Given the description of an element on the screen output the (x, y) to click on. 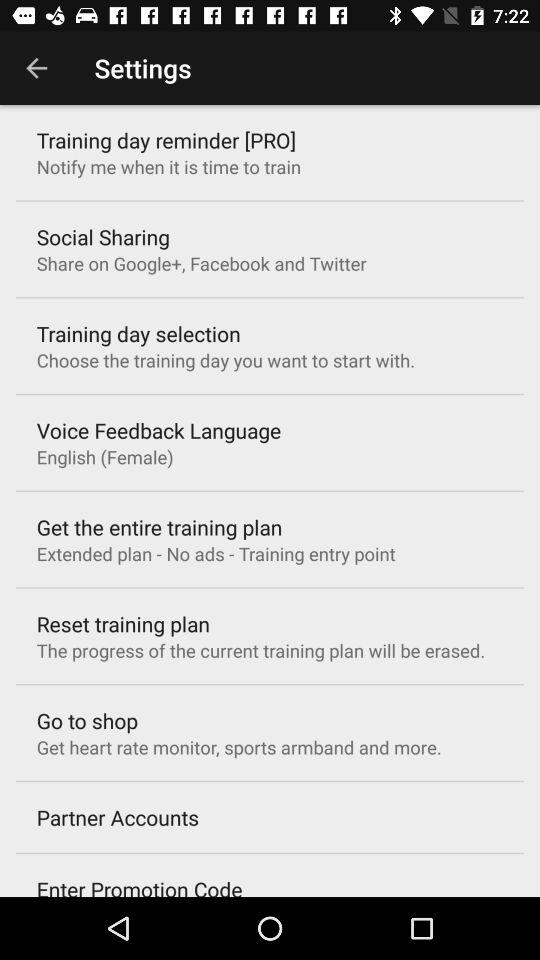
scroll until the notify me when item (168, 166)
